Given the description of an element on the screen output the (x, y) to click on. 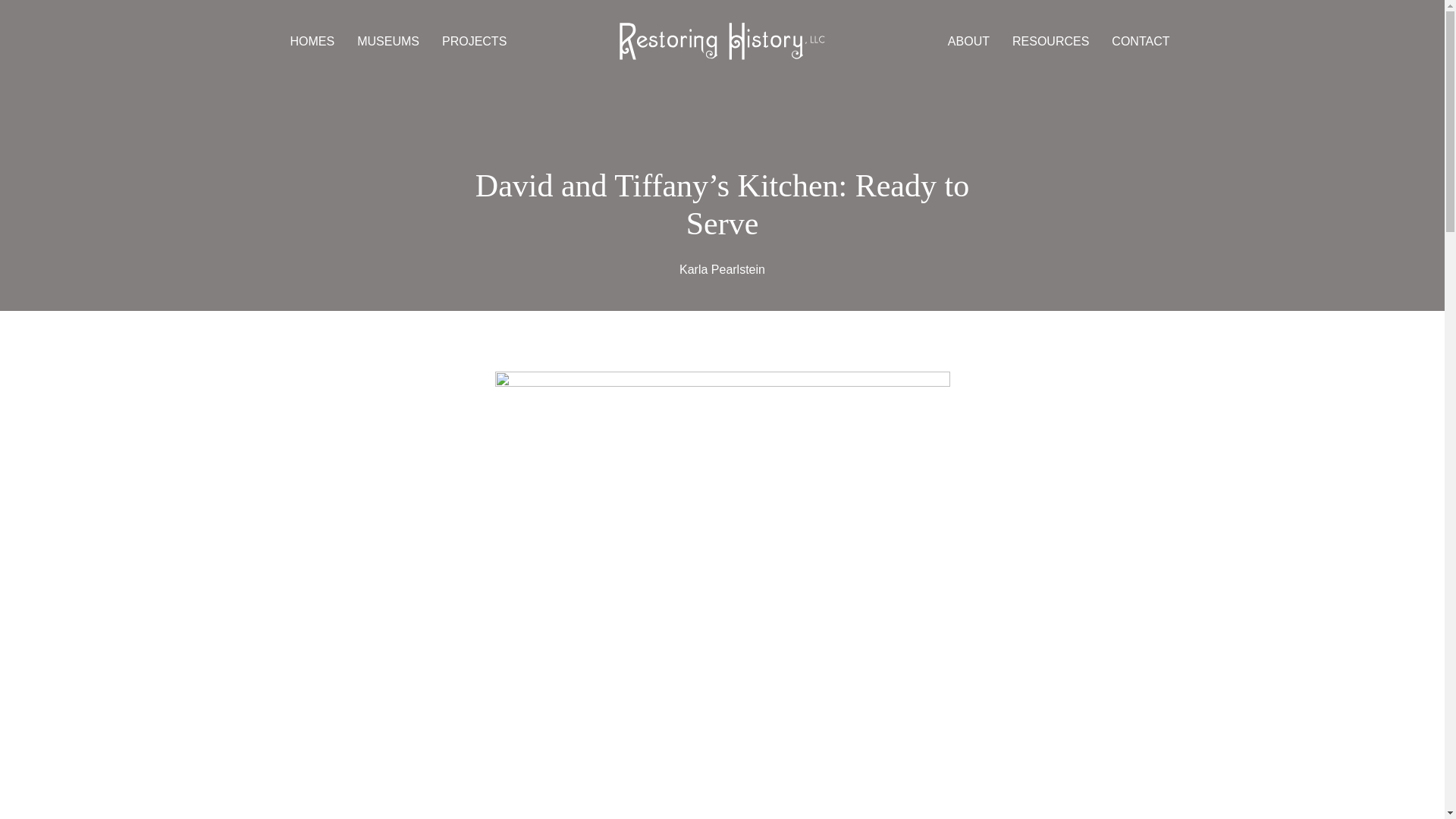
MUSEUMS (387, 41)
HOMES (312, 41)
Karla Pearlstein (722, 269)
RESOURCES (1050, 41)
PROJECTS (473, 41)
CONTACT (1139, 41)
ABOUT (968, 41)
